Given the description of an element on the screen output the (x, y) to click on. 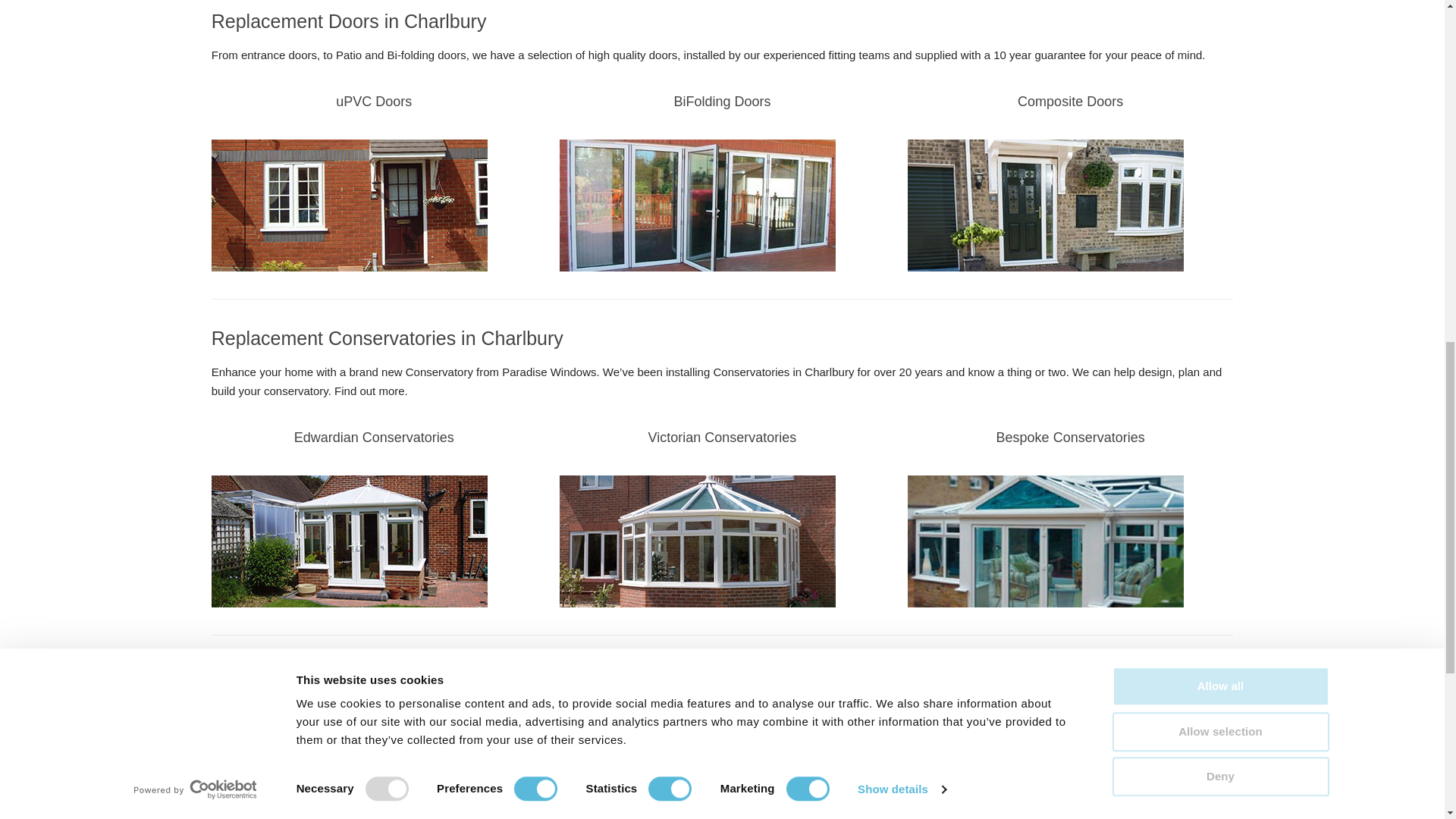
edwardian-1 (349, 541)
Doors (1045, 205)
Doors (349, 205)
Doors (697, 205)
